Given the description of an element on the screen output the (x, y) to click on. 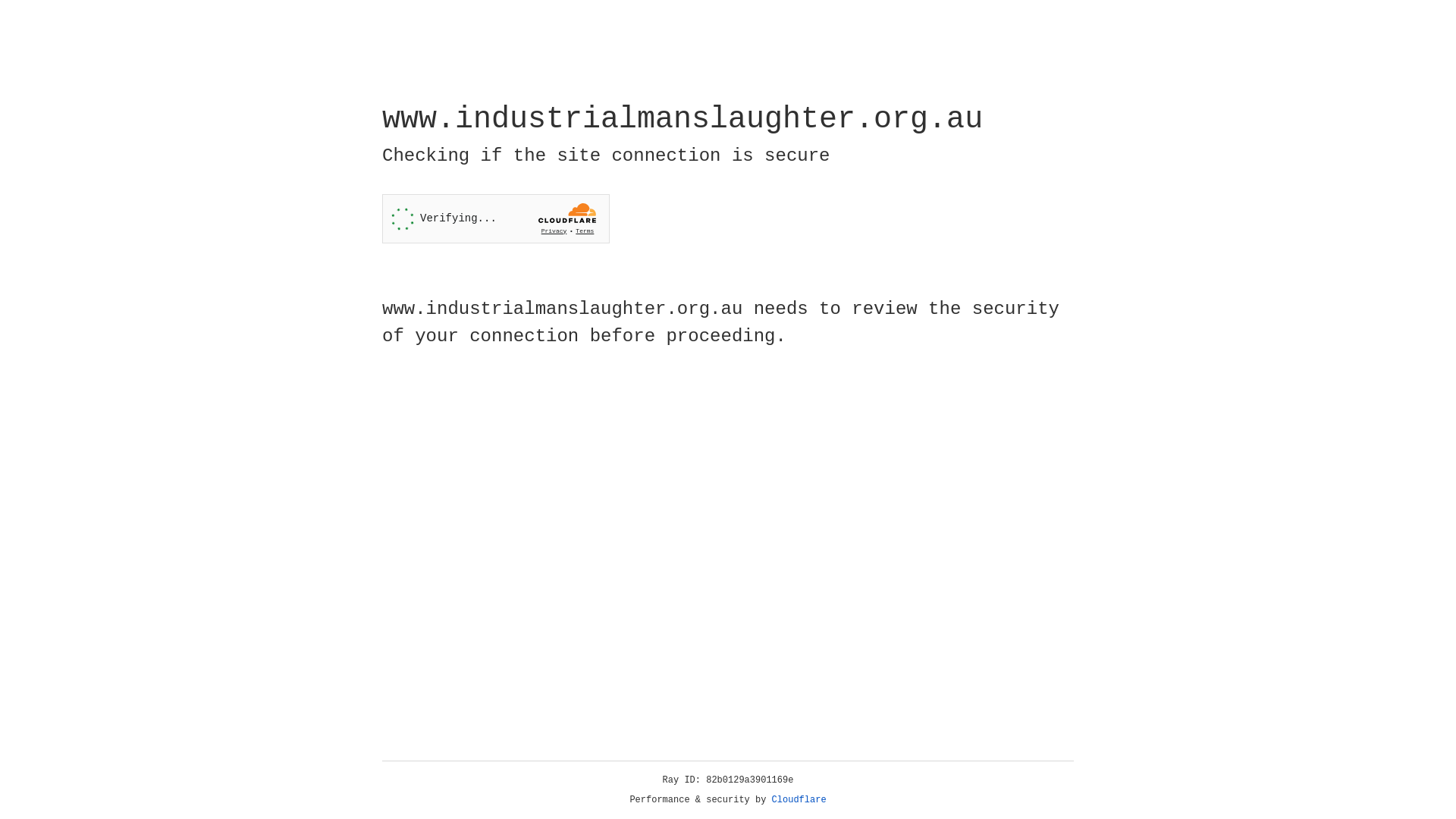
Cloudflare Element type: text (798, 799)
Widget containing a Cloudflare security challenge Element type: hover (495, 218)
